Given the description of an element on the screen output the (x, y) to click on. 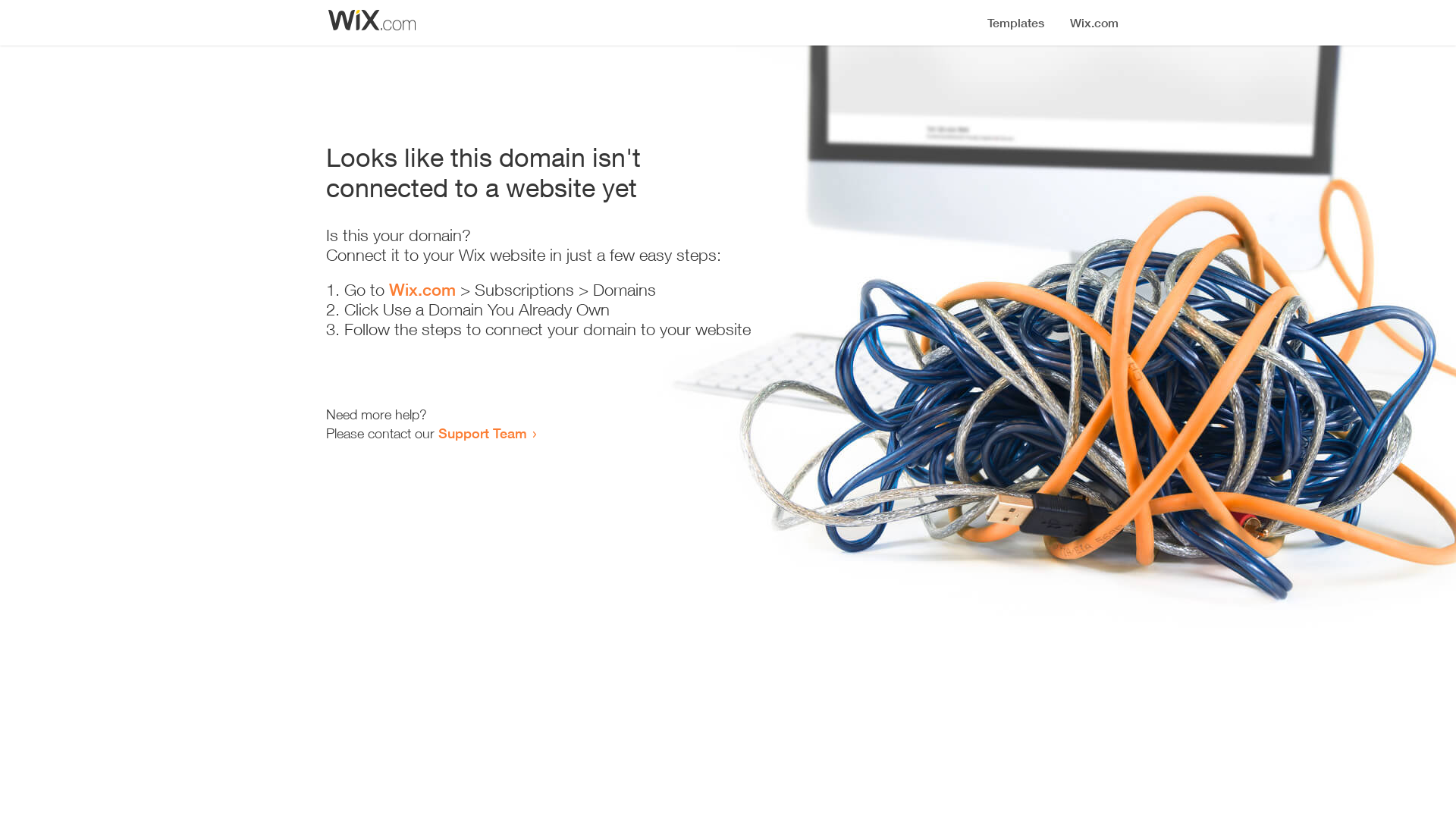
Wix.com Element type: text (422, 289)
Support Team Element type: text (482, 432)
